Given the description of an element on the screen output the (x, y) to click on. 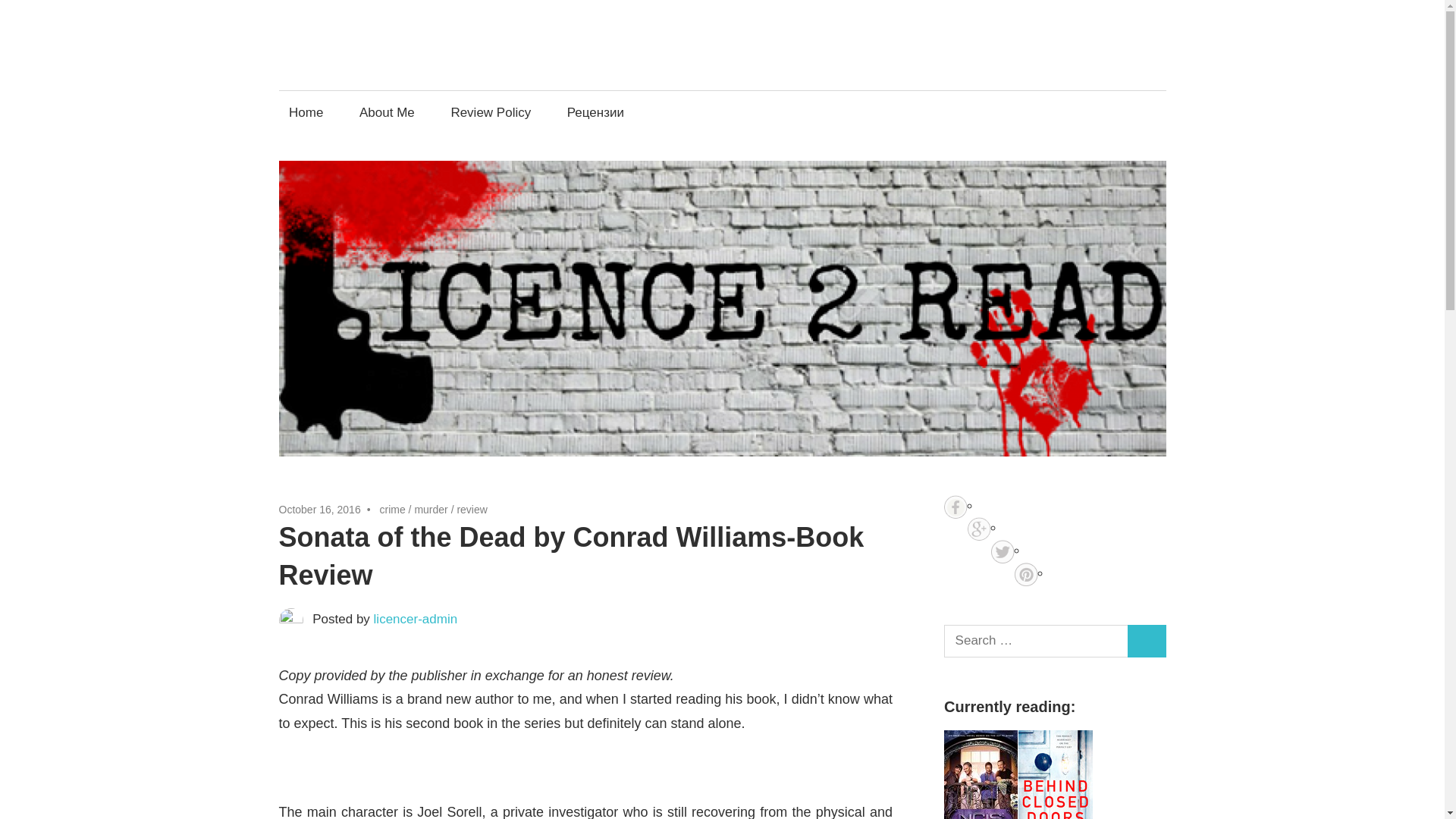
View all posts by licencer-admin (416, 618)
About Me (387, 112)
review (471, 509)
Review Policy (491, 112)
8:41 am (320, 509)
October 16, 2016 (320, 509)
licencer-admin (416, 618)
crime (391, 509)
Search (1146, 640)
Home (306, 112)
